Given the description of an element on the screen output the (x, y) to click on. 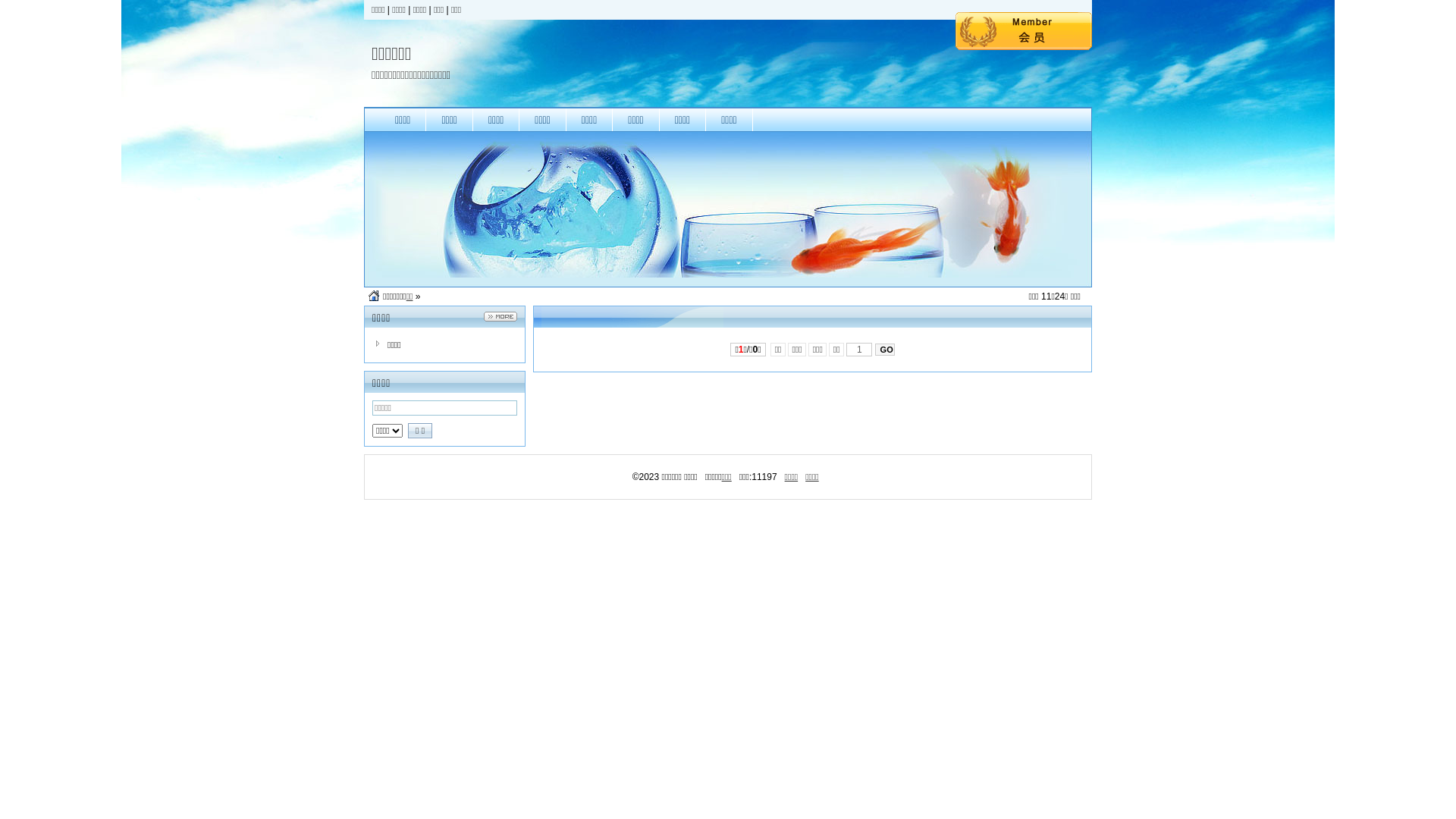
GO Element type: text (884, 349)
